Given the description of an element on the screen output the (x, y) to click on. 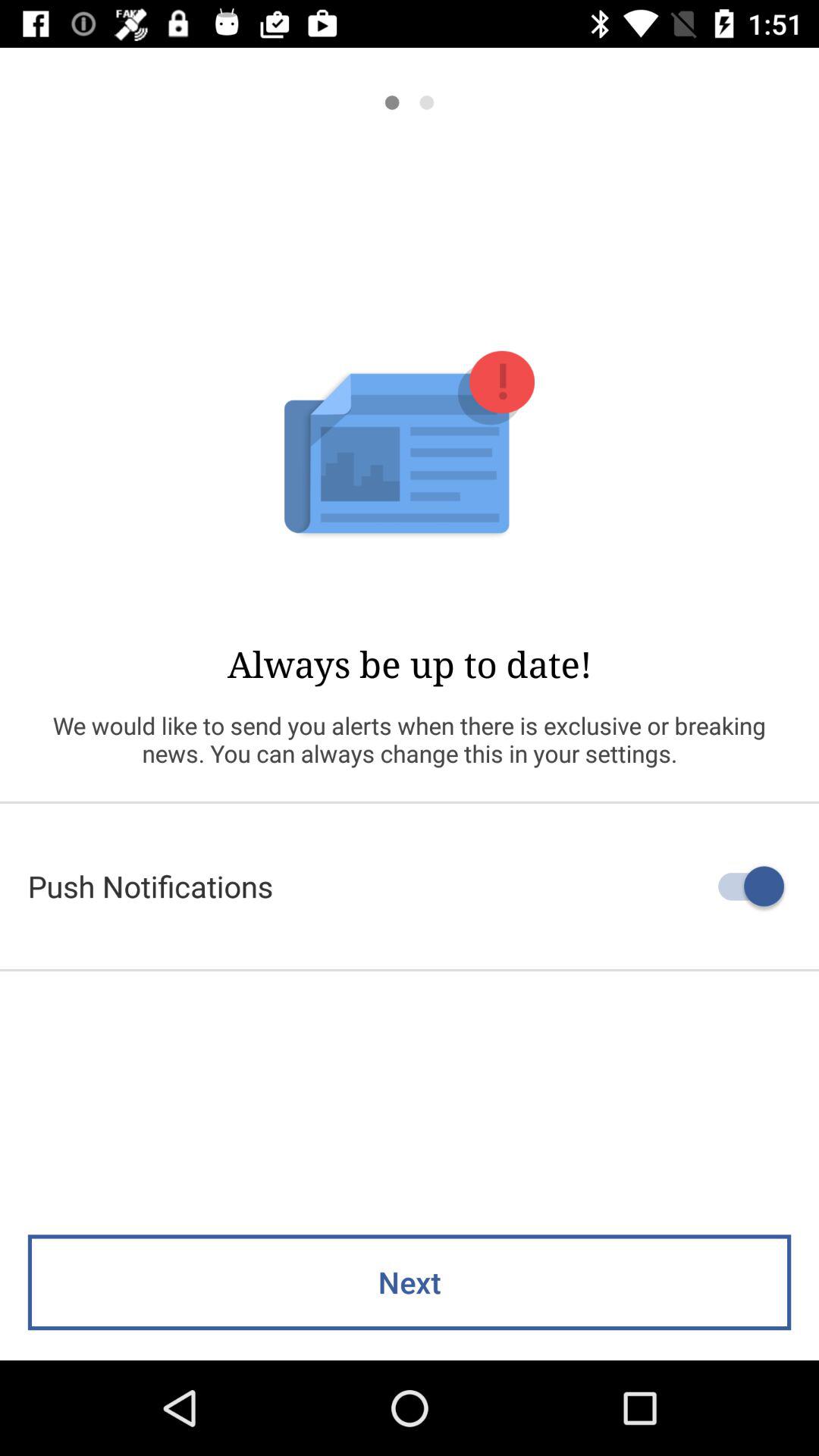
jump until push notifications (409, 886)
